Given the description of an element on the screen output the (x, y) to click on. 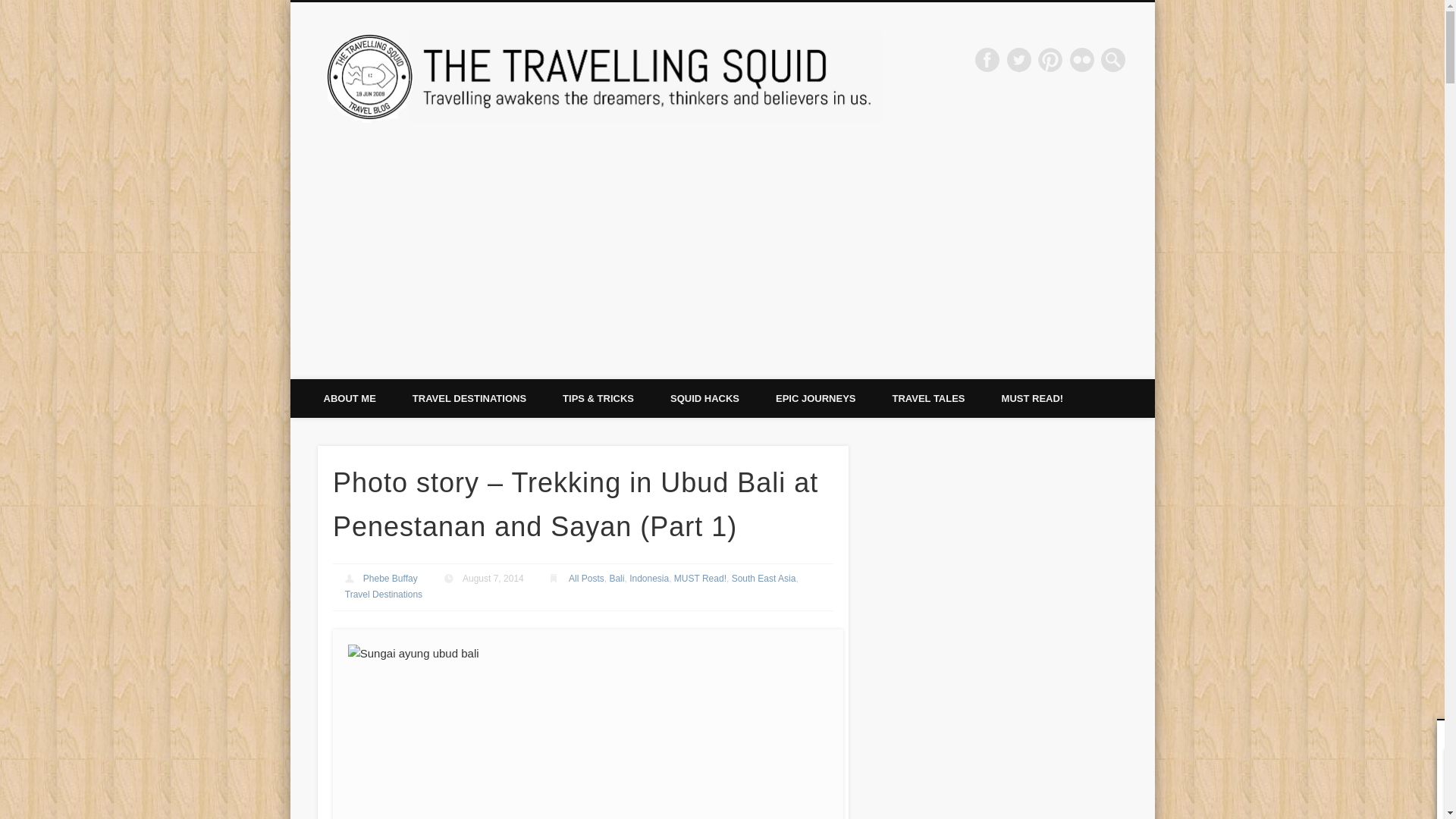
Twitter (1018, 59)
The Travelling Squid (1000, 59)
Posts by Phebe Buffay (389, 578)
Facebook (986, 59)
TRAVEL DESTINATIONS (469, 398)
Sungai ayung ubud bali (587, 731)
Pinterest (1050, 59)
Flickr (1082, 59)
ABOUT ME (348, 398)
